Given the description of an element on the screen output the (x, y) to click on. 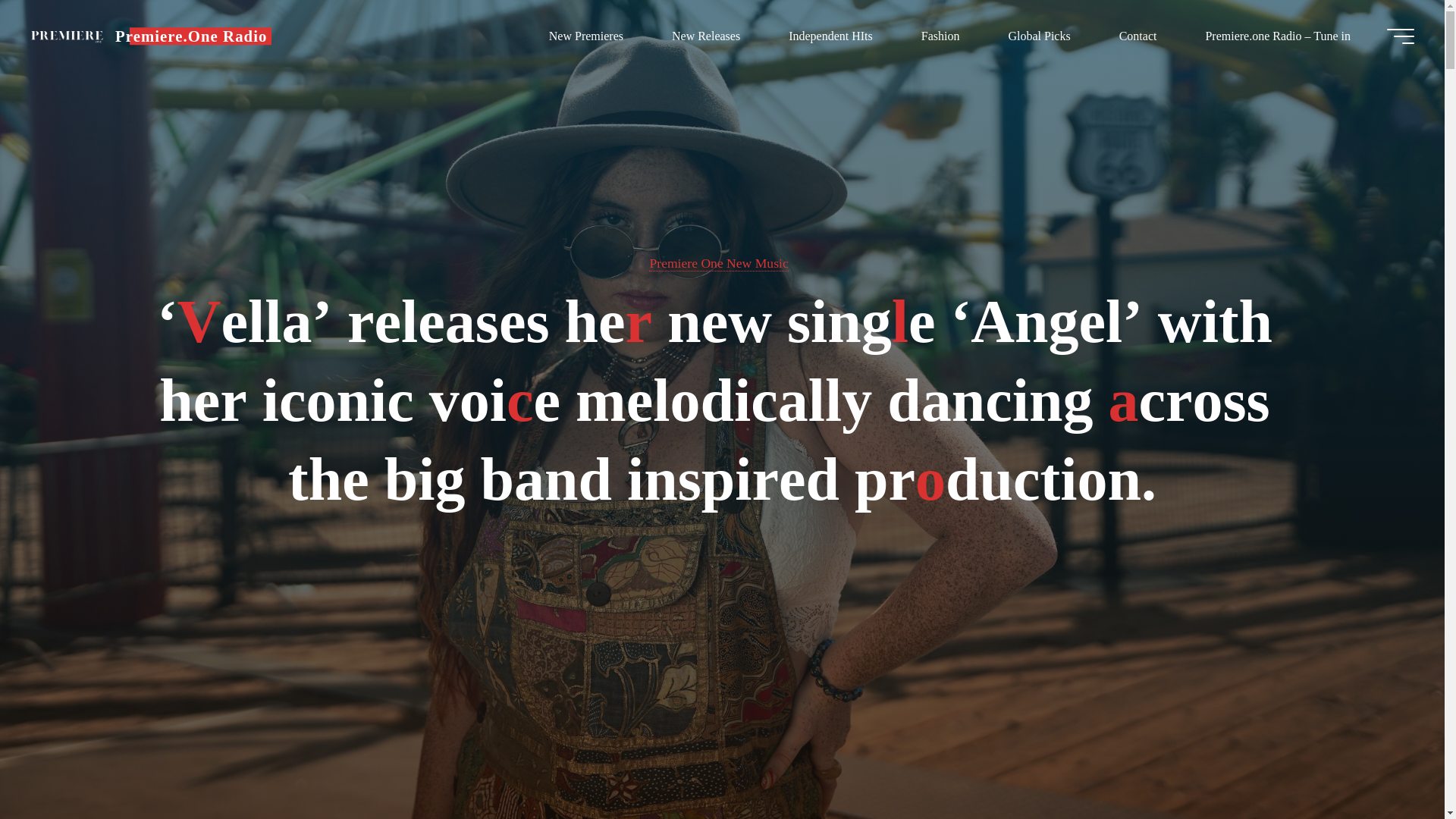
Premiere One New Music (718, 263)
Global Picks (1039, 35)
New Premieres (585, 35)
Fashion (940, 35)
Read more (721, 724)
Contact (1137, 35)
Premiere.One Radio (190, 36)
Global Music News, Fashion and New Music Radio  (190, 36)
Independent HIts (830, 35)
New Releases (705, 35)
Premiere.One Radio (67, 35)
